Given the description of an element on the screen output the (x, y) to click on. 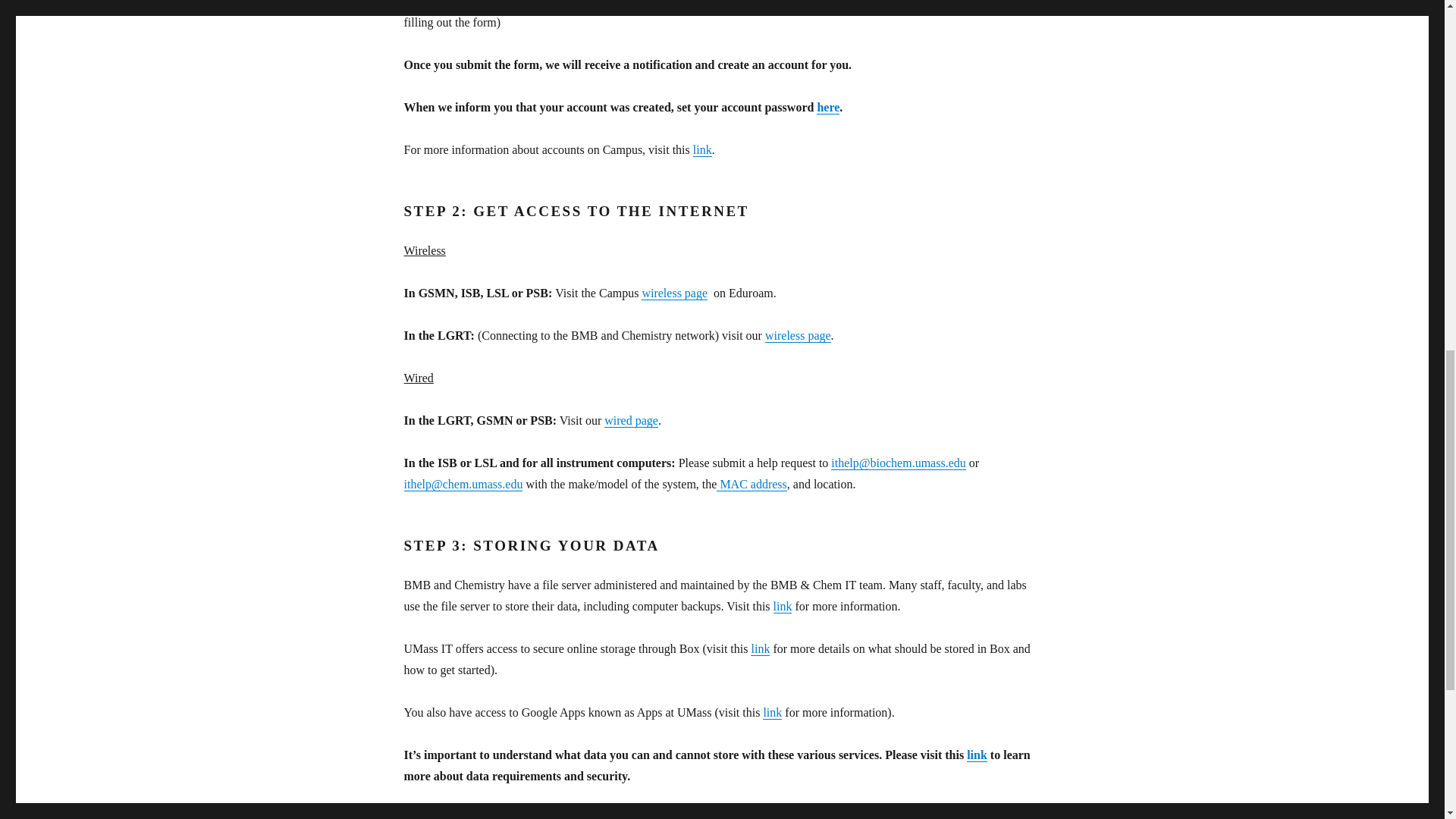
link (760, 648)
link (782, 605)
MAC address (751, 483)
here (828, 106)
wireless page (798, 335)
wired page (631, 420)
link (702, 149)
wireless page (674, 292)
link (771, 712)
Google form (643, 3)
